Given the description of an element on the screen output the (x, y) to click on. 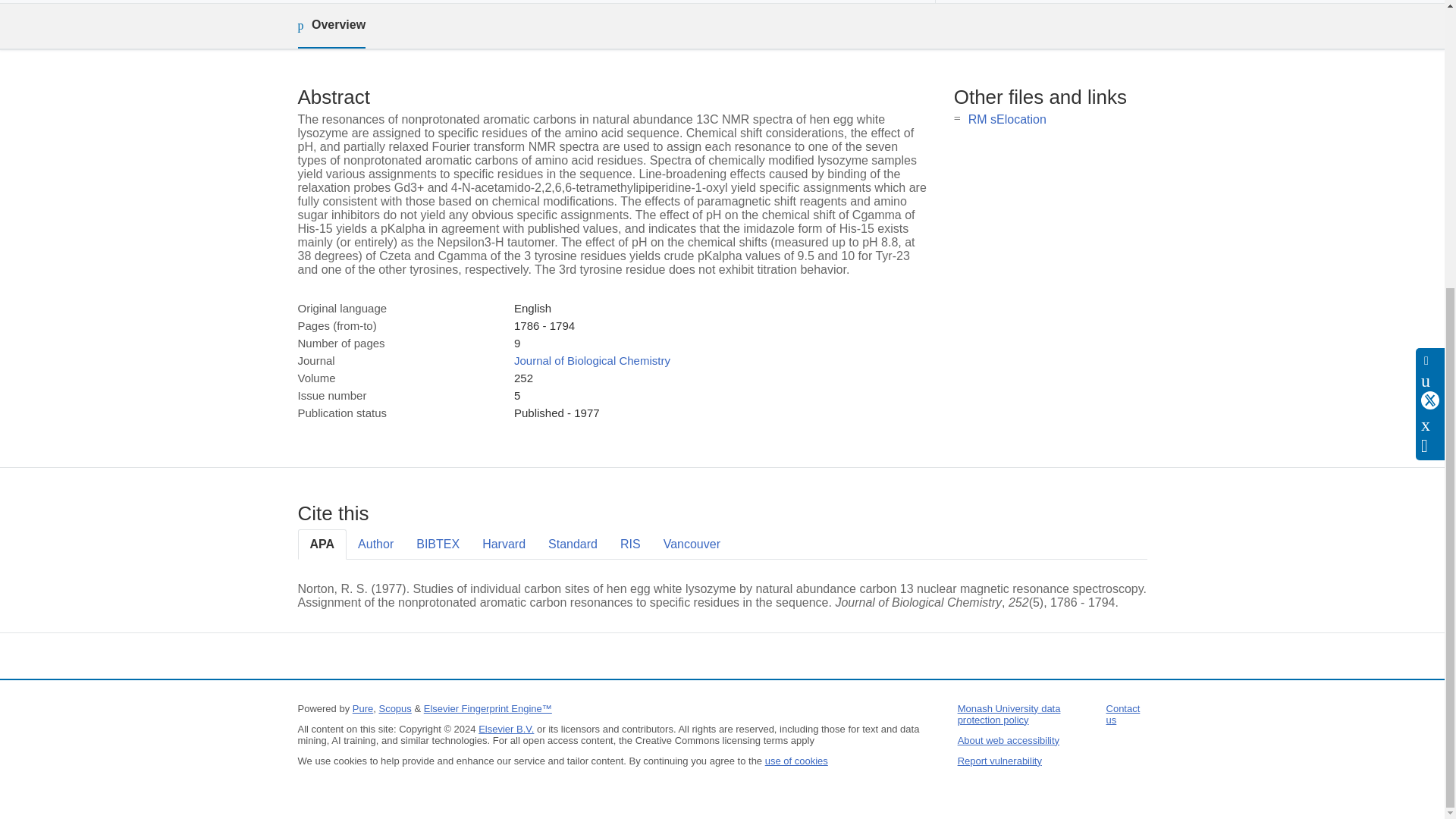
Elsevier B.V. (506, 728)
About web accessibility (1008, 740)
Monash University data protection policy (1009, 713)
RM sElocation (1007, 119)
Pure (362, 708)
Overview (331, 26)
Journal of Biological Chemistry (591, 359)
Report vulnerability (1000, 760)
Scopus (394, 708)
use of cookies (796, 760)
